Given the description of an element on the screen output the (x, y) to click on. 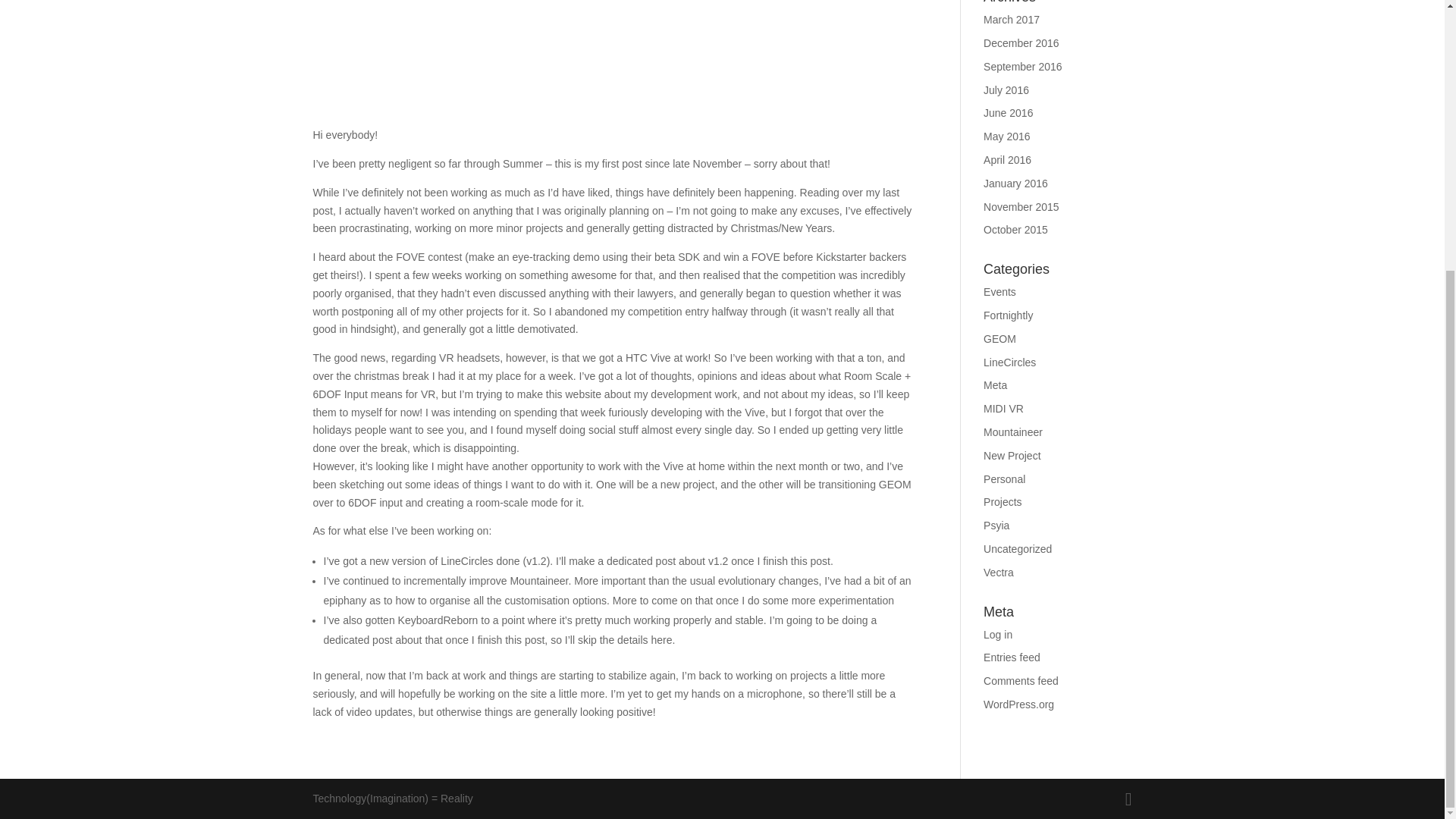
Mountaineer (1013, 431)
May 2016 (1006, 136)
January 2016 (1016, 183)
LineCircles (1009, 362)
Personal (1004, 479)
October 2015 (1016, 229)
June 2016 (1008, 112)
Events (1000, 291)
July 2016 (1006, 90)
December 2016 (1021, 42)
